Given the description of an element on the screen output the (x, y) to click on. 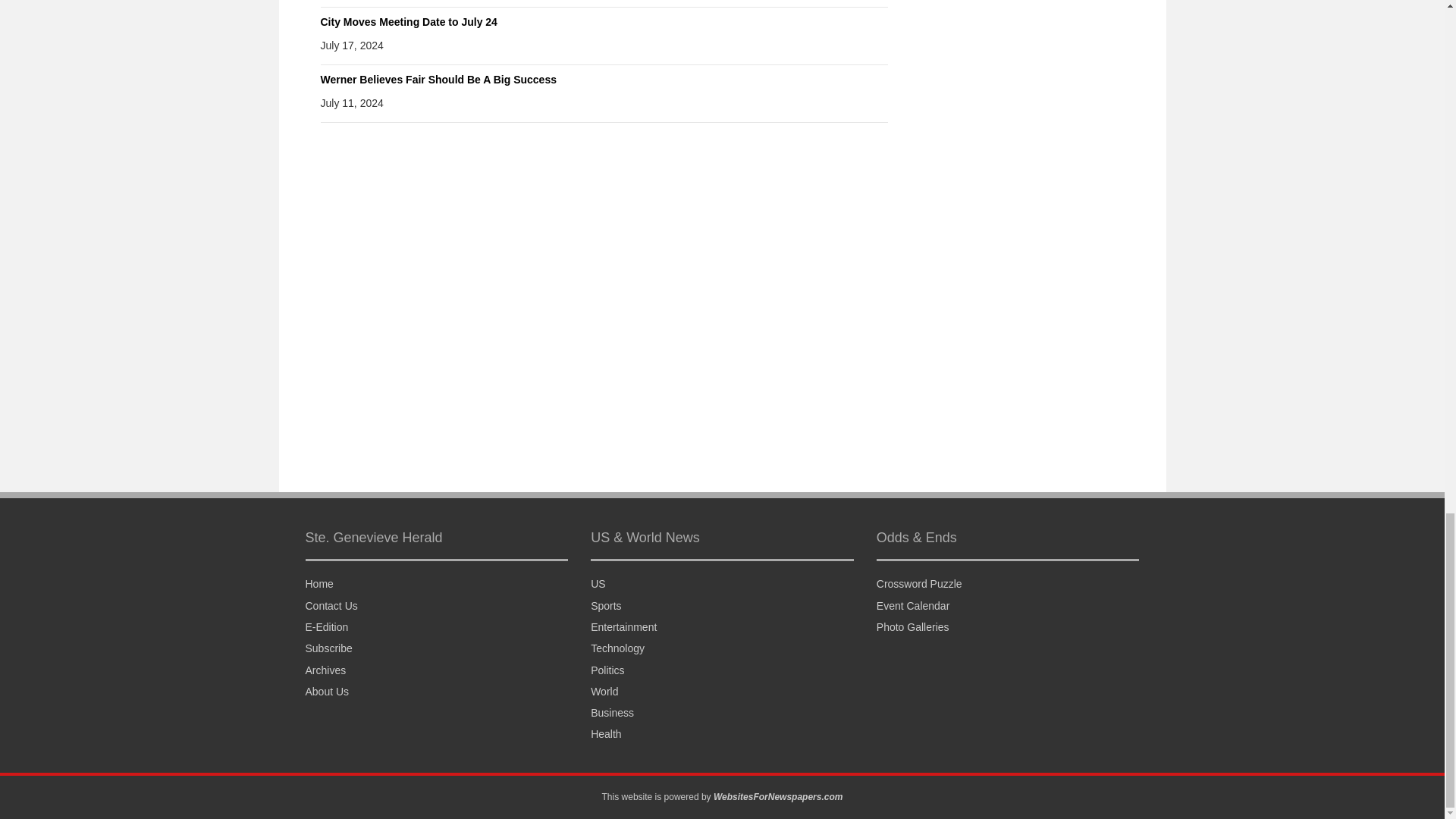
Werner Believes Fair Should Be A Big Success (438, 79)
City Moves Meeting Date to July 24 (408, 21)
